Given the description of an element on the screen output the (x, y) to click on. 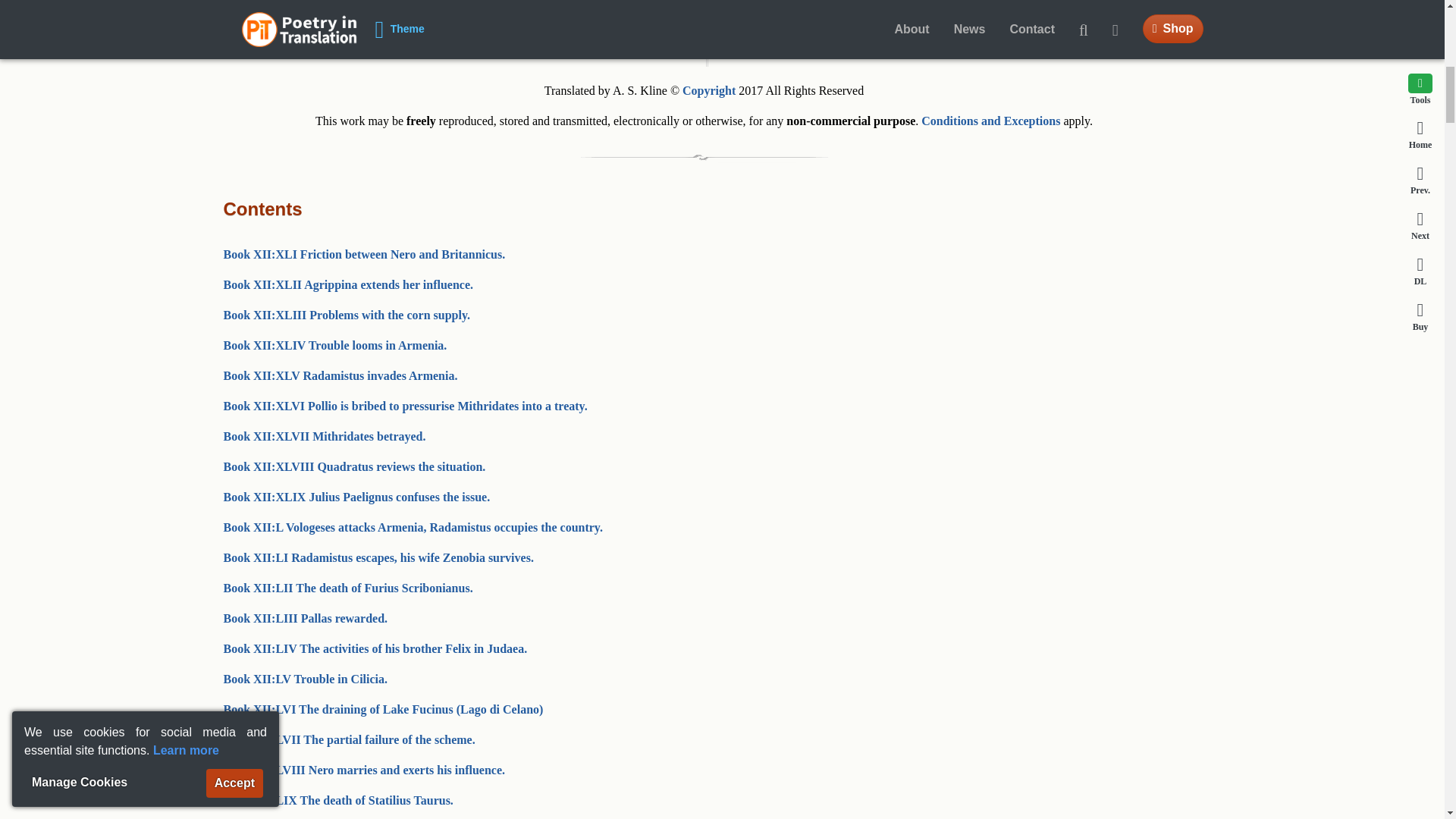
Conditions and Exceptions (990, 120)
Book XII:XLIII Problems with the corn supply. (346, 314)
Book XII:XLVIII Quadratus reviews the situation. (353, 466)
Book XII:XLI Friction between Nero and Britannicus. (363, 254)
  Buy This Book (900, 17)
Book XII:XLVII Mithridates betrayed. (323, 436)
Copyright (708, 90)
  Download (704, 17)
